Given the description of an element on the screen output the (x, y) to click on. 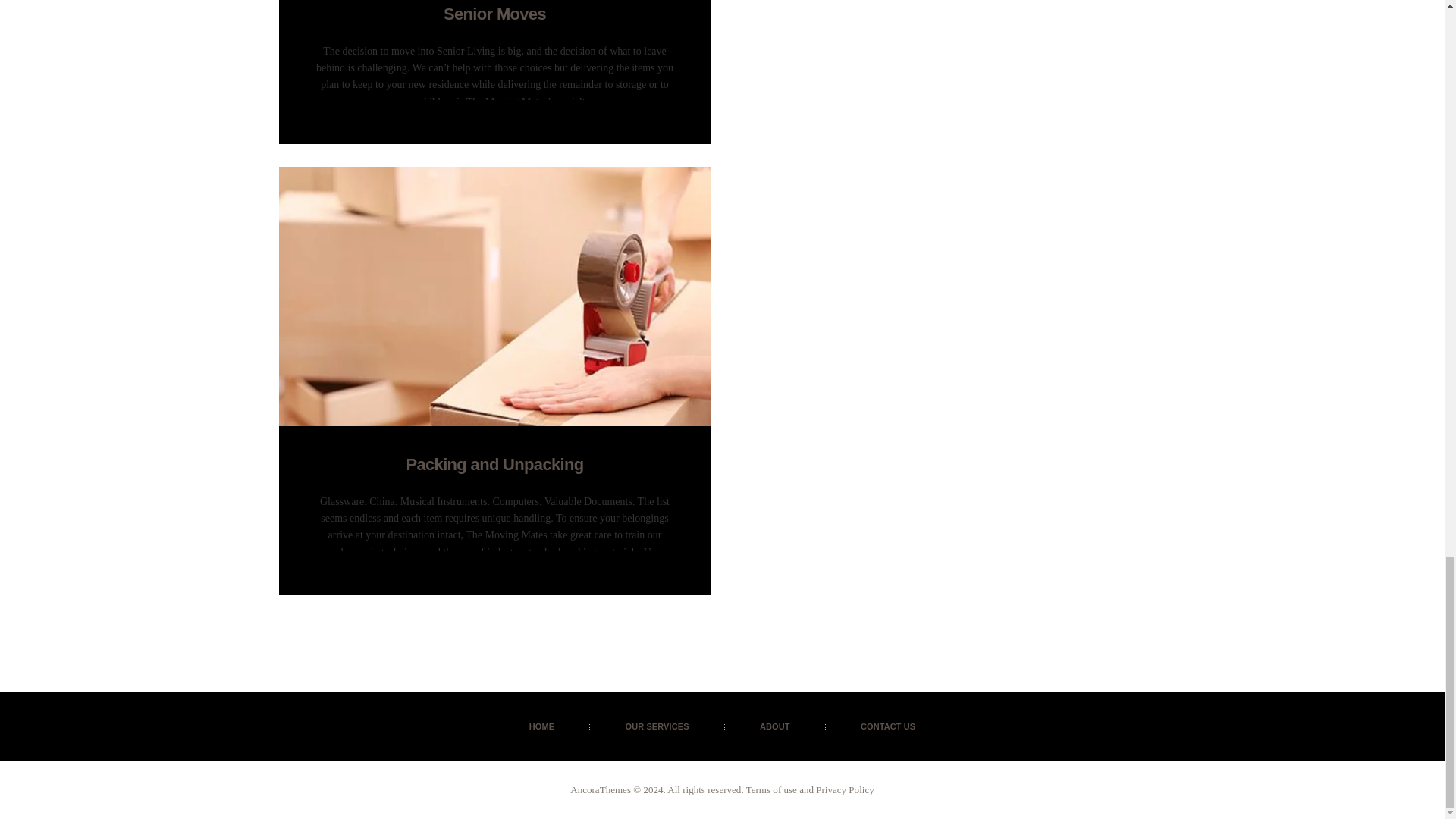
OUR SERVICES (656, 726)
HOME (541, 726)
Senior Moves (495, 14)
CONTACT US (888, 726)
ABOUT (774, 726)
Packing and Unpacking (495, 464)
